Given the description of an element on the screen output the (x, y) to click on. 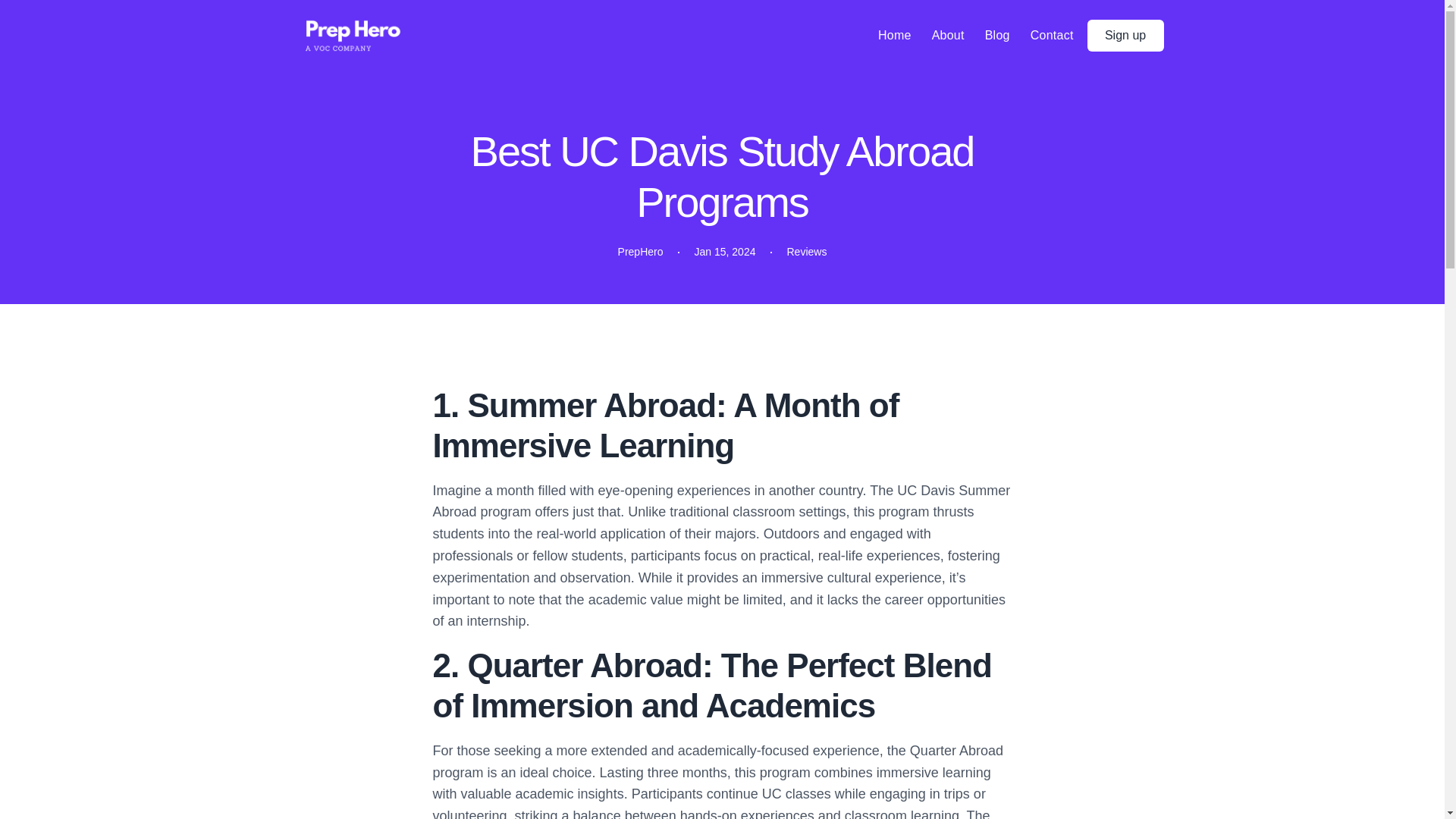
Blog (997, 35)
Home (894, 35)
Sign up (1125, 34)
About (947, 35)
Contact (1052, 35)
Reviews (807, 251)
